Given the description of an element on the screen output the (x, y) to click on. 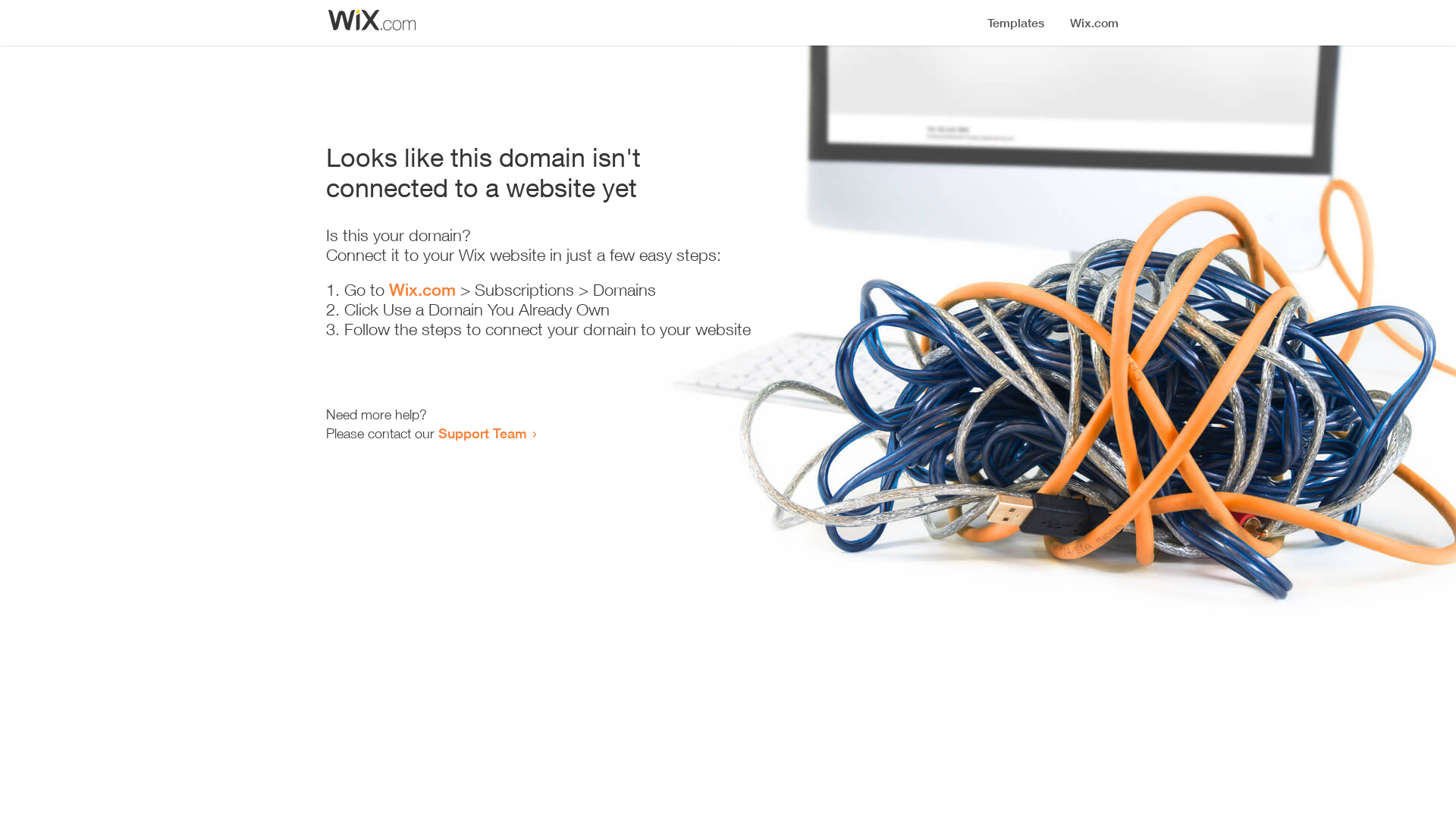
Support Team Element type: text (482, 432)
Wix.com Element type: text (422, 289)
